Given the description of an element on the screen output the (x, y) to click on. 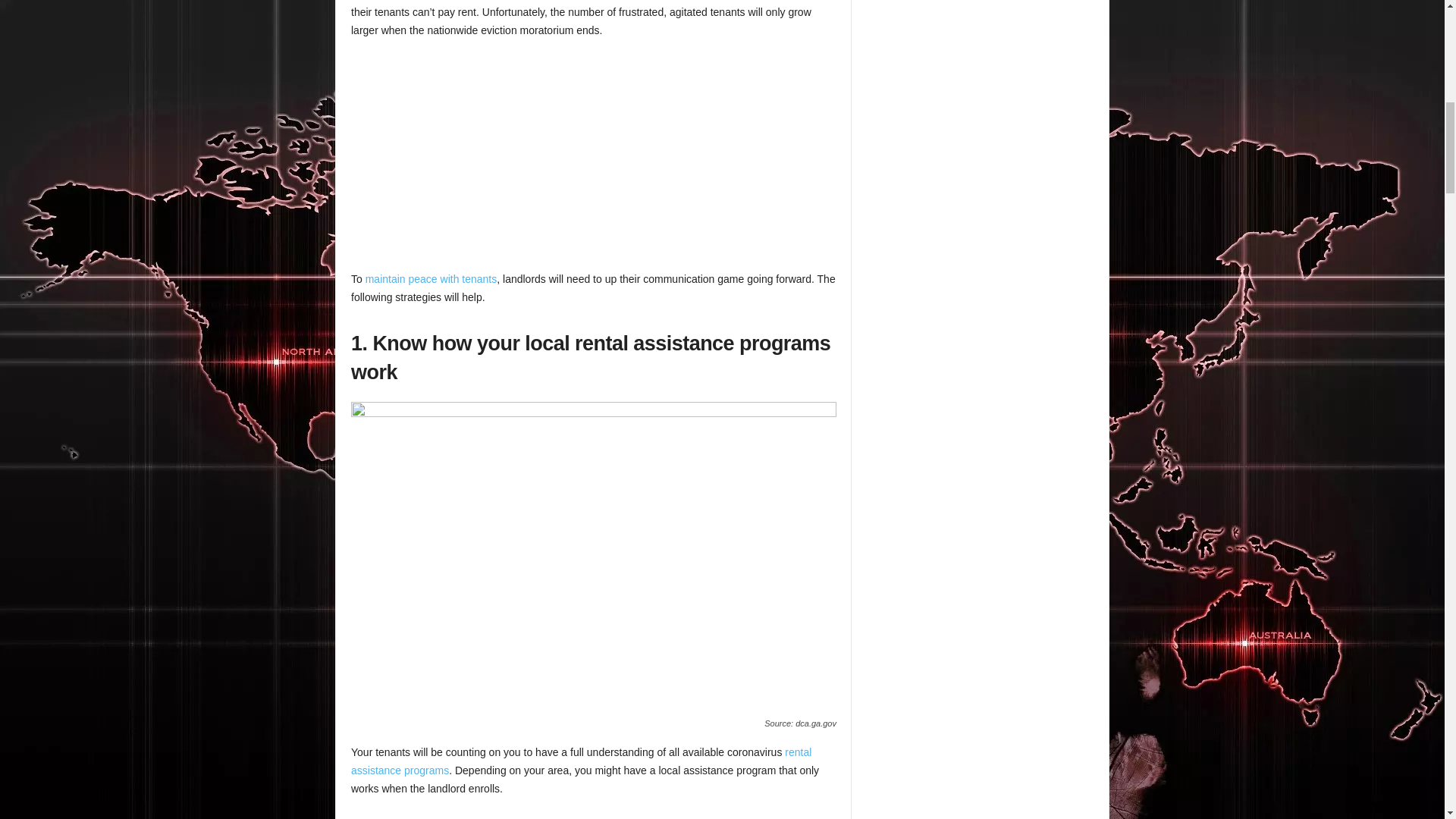
Advertisement (592, 163)
rental assistance programs (580, 761)
maintain peace with tenants (431, 278)
